Given the description of an element on the screen output the (x, y) to click on. 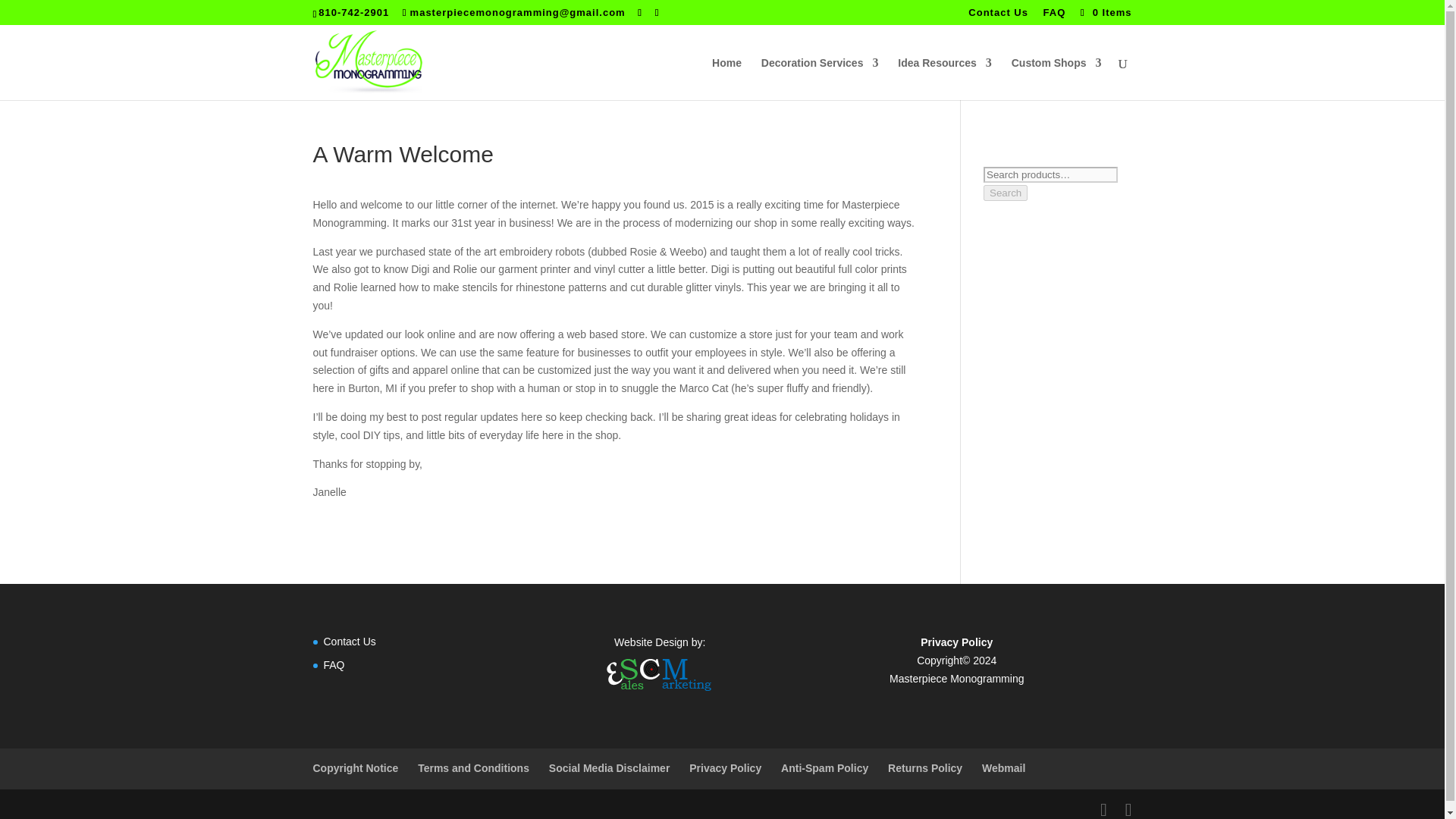
FAQ (333, 664)
Marketing Implementation  (659, 693)
FAQ (1054, 16)
Web Development by ESCMI (659, 673)
Search (1005, 192)
Custom Shops (1056, 78)
Decoration Services (820, 78)
0 Items (1104, 12)
Contact Us (997, 16)
Contact Us (349, 641)
